Given the description of an element on the screen output the (x, y) to click on. 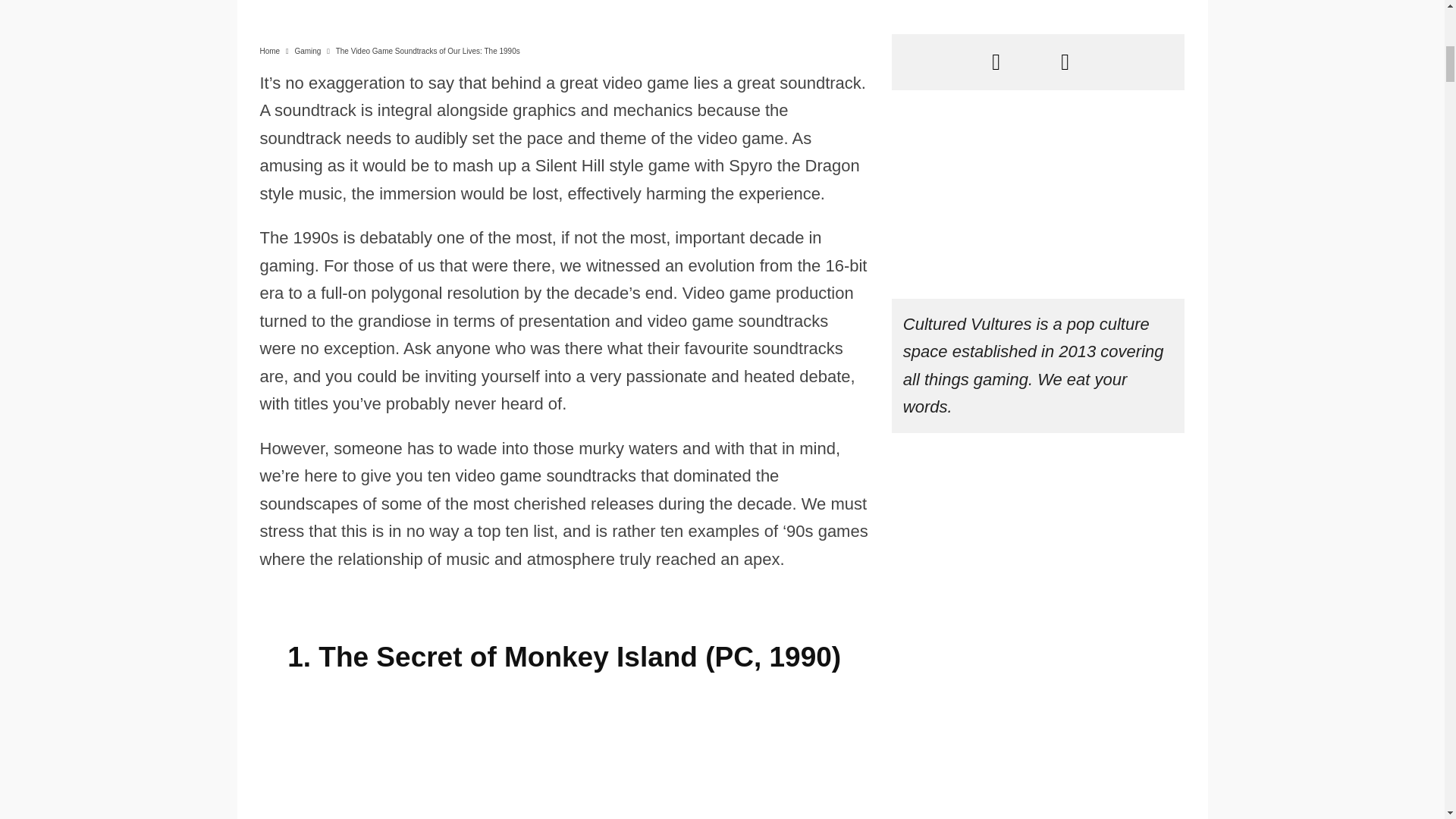
Gaming (307, 50)
Home (269, 50)
